Given the description of an element on the screen output the (x, y) to click on. 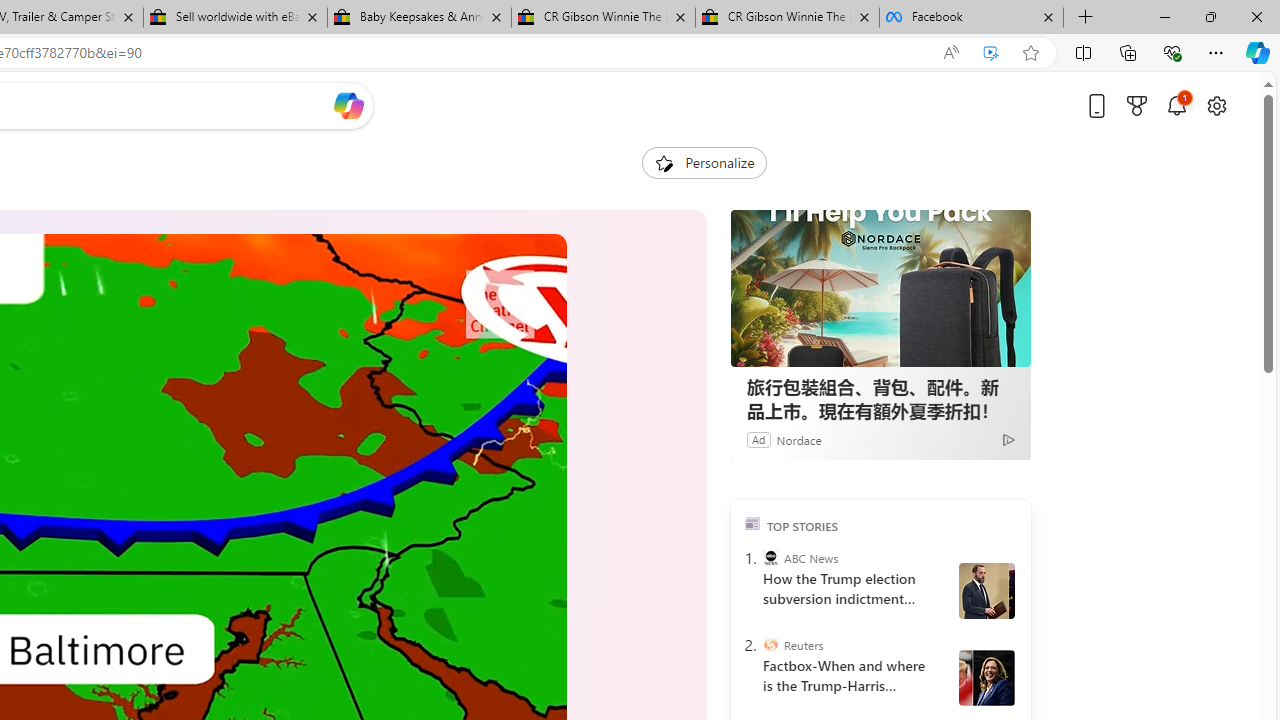
Personalize (703, 162)
Baby Keepsakes & Announcements for sale | eBay (418, 17)
